Given the description of an element on the screen output the (x, y) to click on. 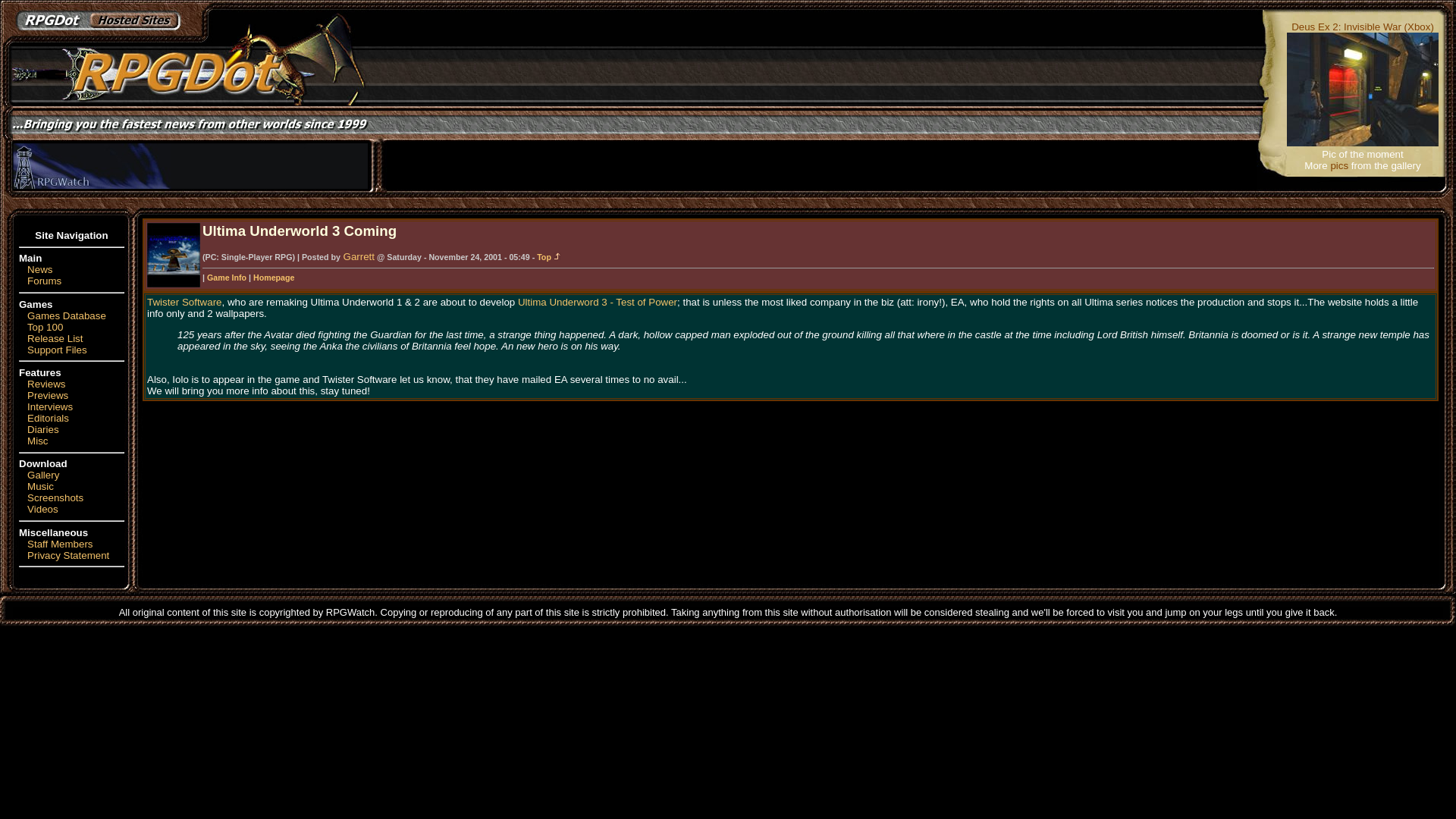
Music (40, 486)
Game Info (226, 276)
Support Files (57, 349)
pics (1339, 164)
Top 100 (44, 326)
Twister Software (184, 301)
Previews (47, 395)
Gallery (43, 474)
Editorials (47, 418)
Top (548, 256)
